Given the description of an element on the screen output the (x, y) to click on. 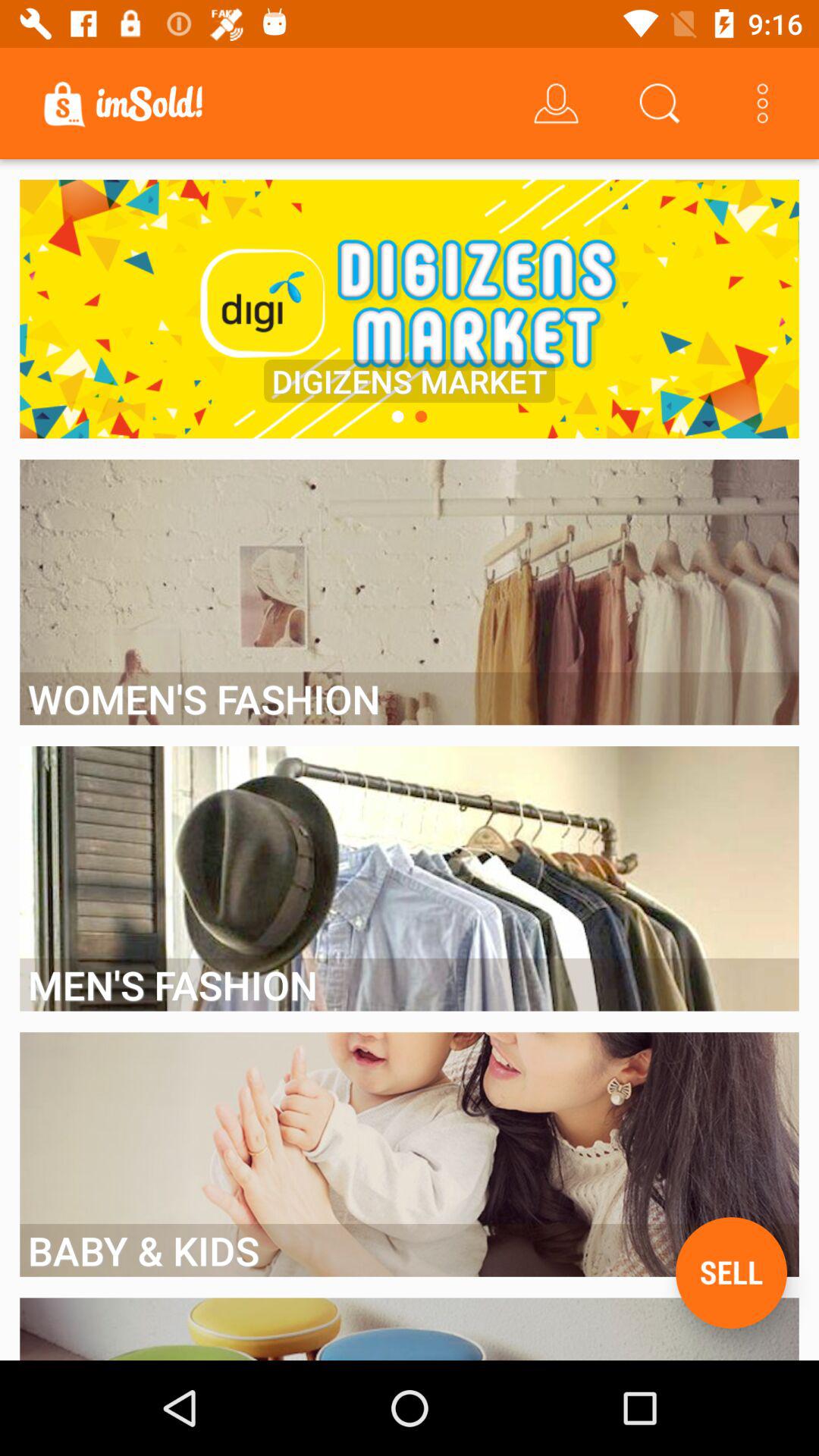
sell an item (731, 1272)
